Given the description of an element on the screen output the (x, y) to click on. 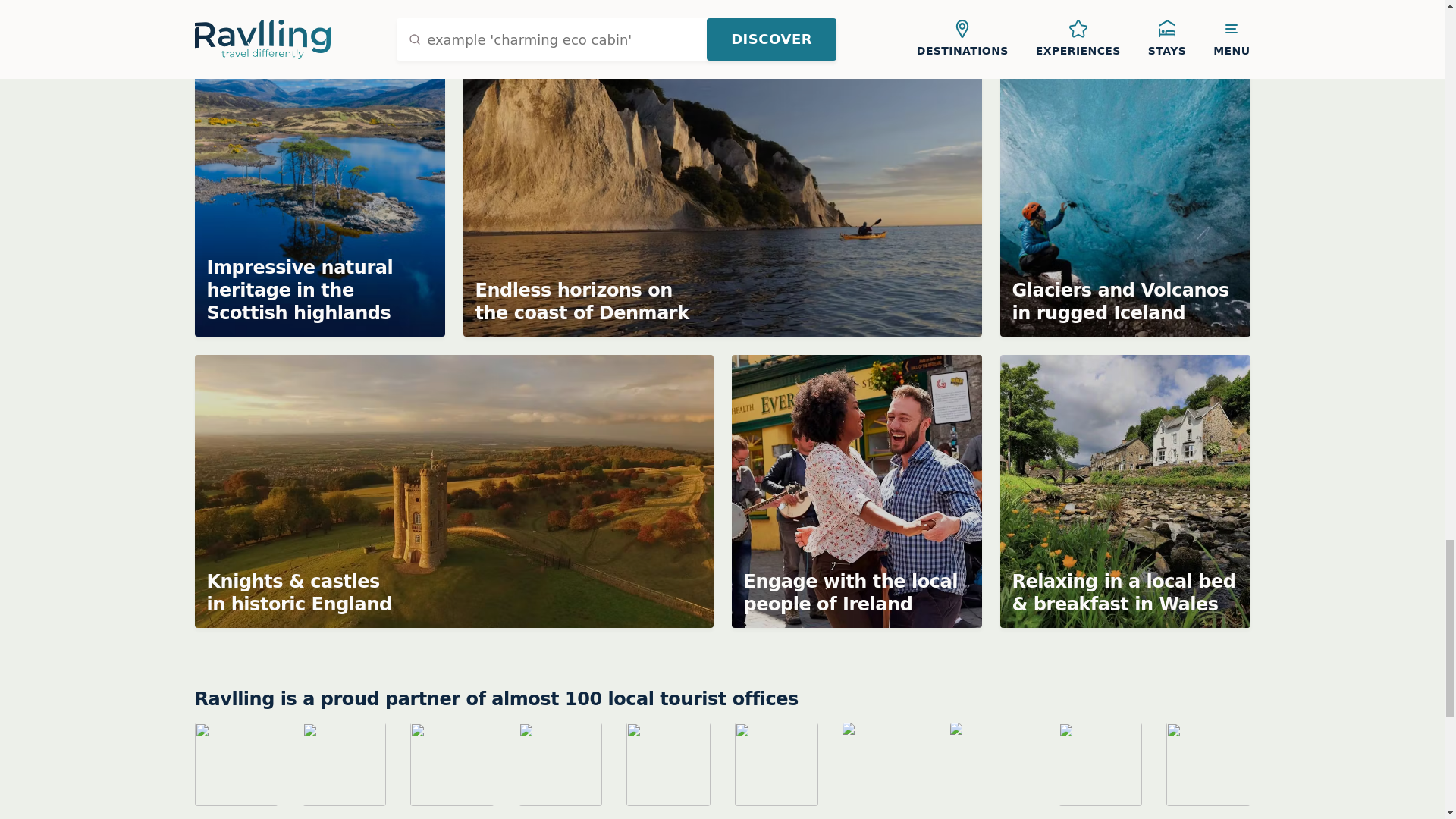
Unique cabins in outdoor Sweden (588, 22)
Stunning Fjords of Norway (989, 22)
Glaciers and Volcanos in rugged Iceland (1123, 199)
Impressive natural heritage in the Scottish highlands (318, 199)
Engage with the local people of Ireland (855, 491)
